Given the description of an element on the screen output the (x, y) to click on. 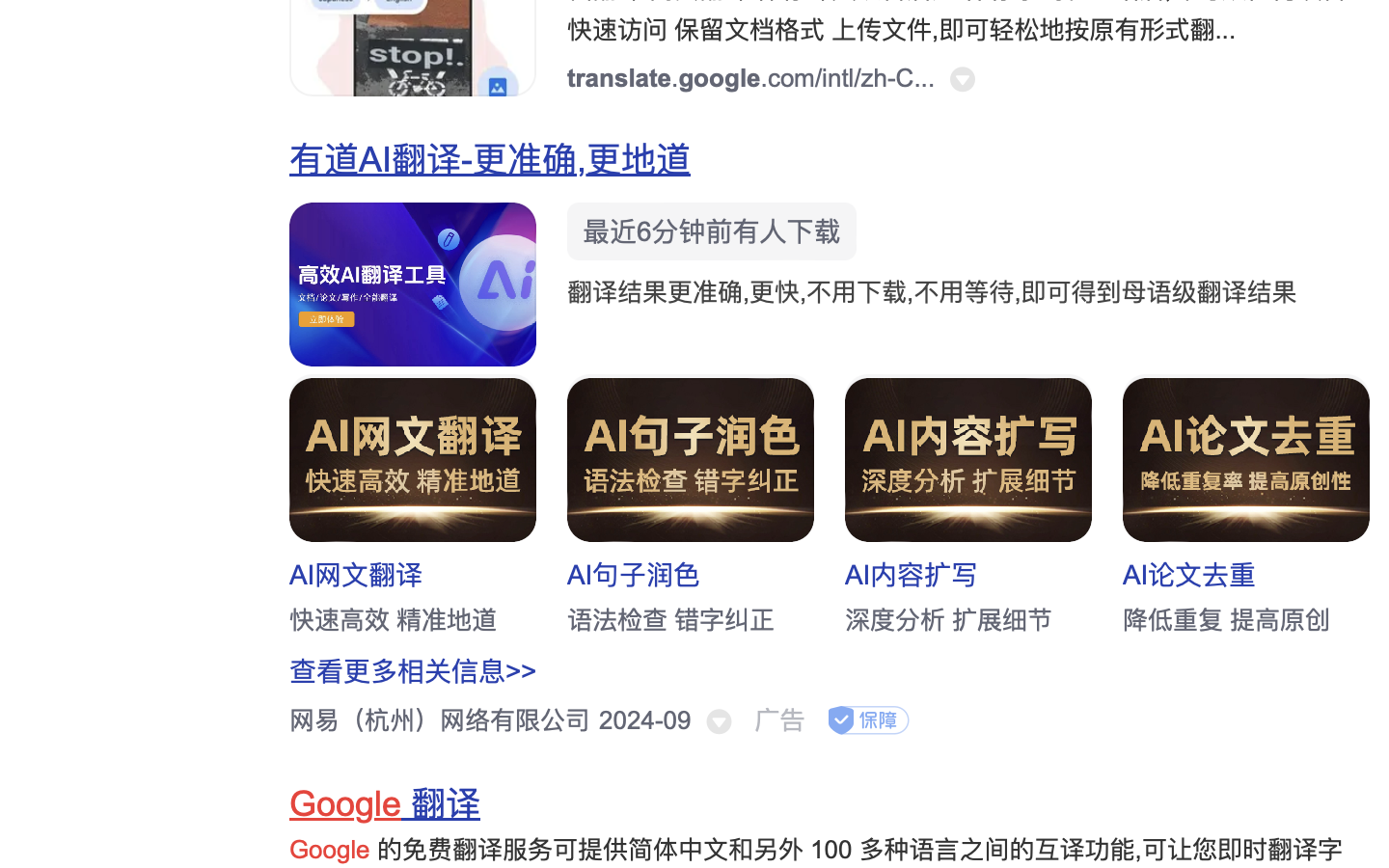
翻译结果更准确,更快,不用下载,不用等待,即可得到母语级翻译结果 Element type: AXStaticText (932, 291)
AI内容扩写 Element type: AXStaticText (912, 574)
2024-09 Element type: AXStaticText (642, 719)
翻译 Element type: AXStaticText (441, 804)
快速高效 精准地道 Element type: AXStaticText (393, 619)
